Given the description of an element on the screen output the (x, y) to click on. 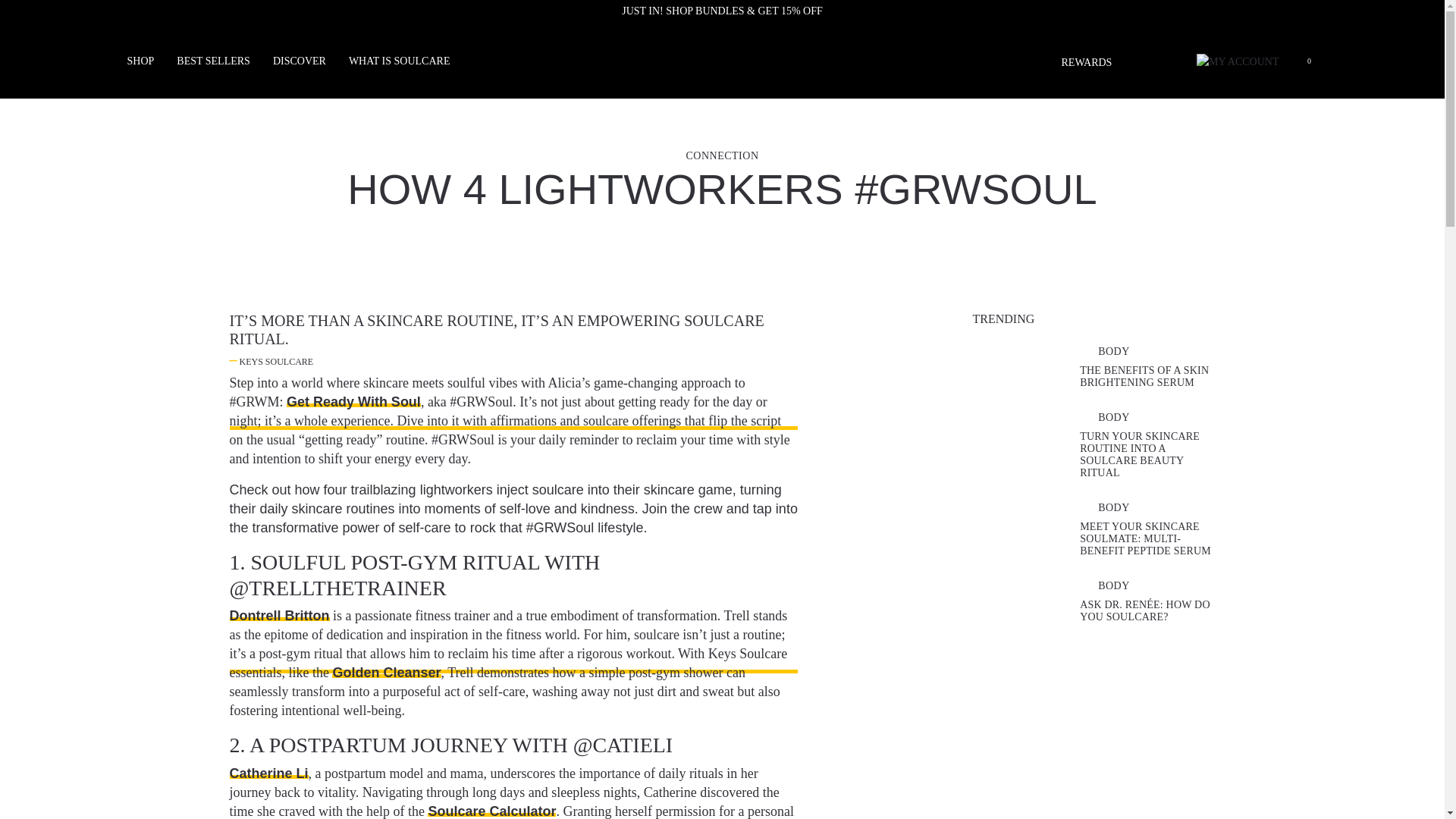
Body (1113, 417)
Share on Twitter (180, 359)
Connection (721, 155)
THE BENEFITS OF A SKIN BRIGHTENING SERUM (1144, 376)
Share on Pinterest (180, 380)
Loyalty Rewards2 (1086, 62)
Body (1113, 351)
Keys Soulcare Home (721, 60)
Share via Email (180, 319)
Share on Facebook (180, 339)
Body (1113, 507)
TURN YOUR SKINCARE ROUTINE INTO A SOULCARE BEAUTY RITUAL (1139, 454)
